Given the description of an element on the screen output the (x, y) to click on. 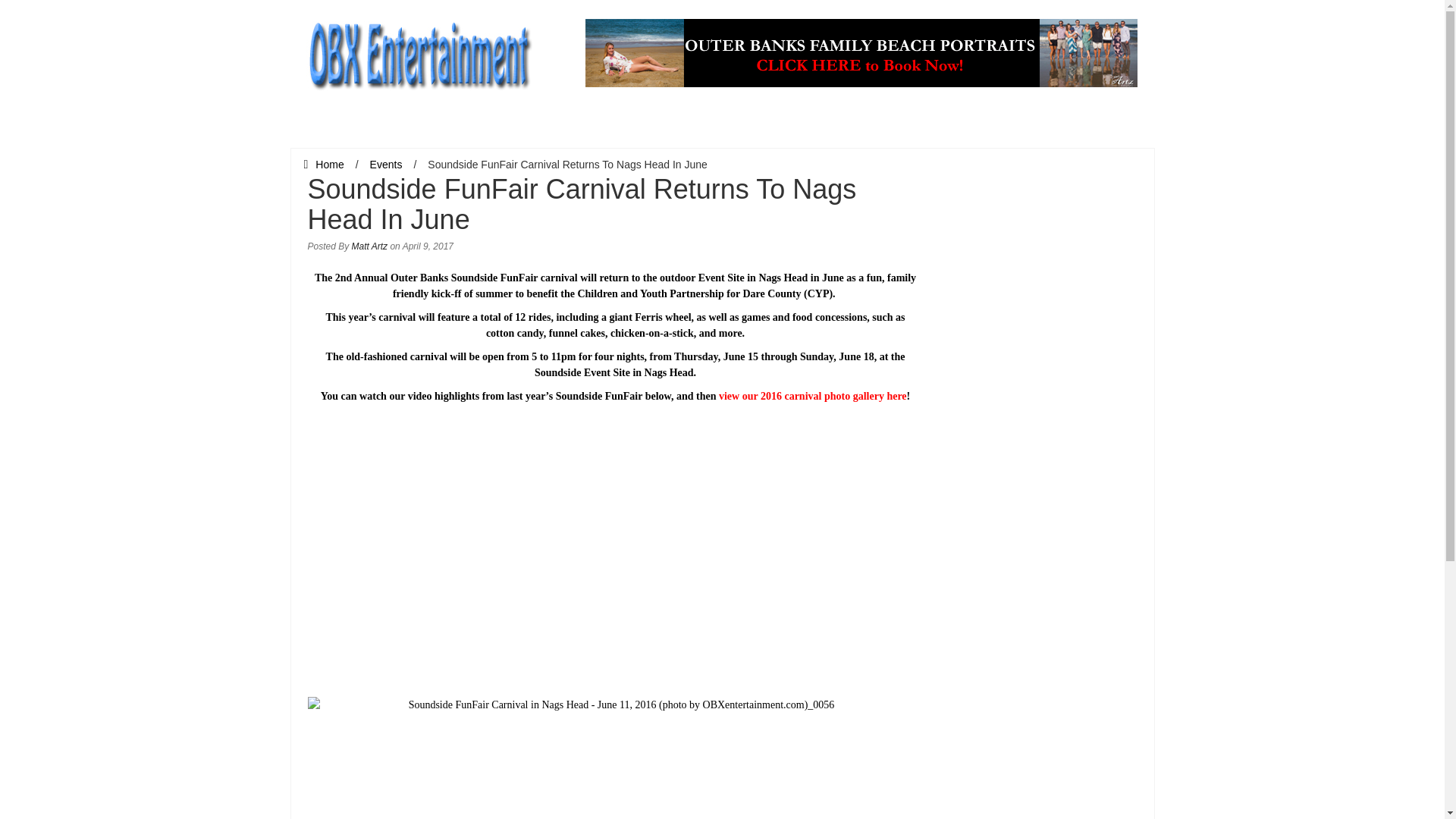
Matt Artz (370, 245)
Home (322, 164)
view our 2016 carnival photo gallery here (813, 396)
OBX Entertainment (418, 51)
Events (386, 164)
Posts by Matt Artz (370, 245)
